Given the description of an element on the screen output the (x, y) to click on. 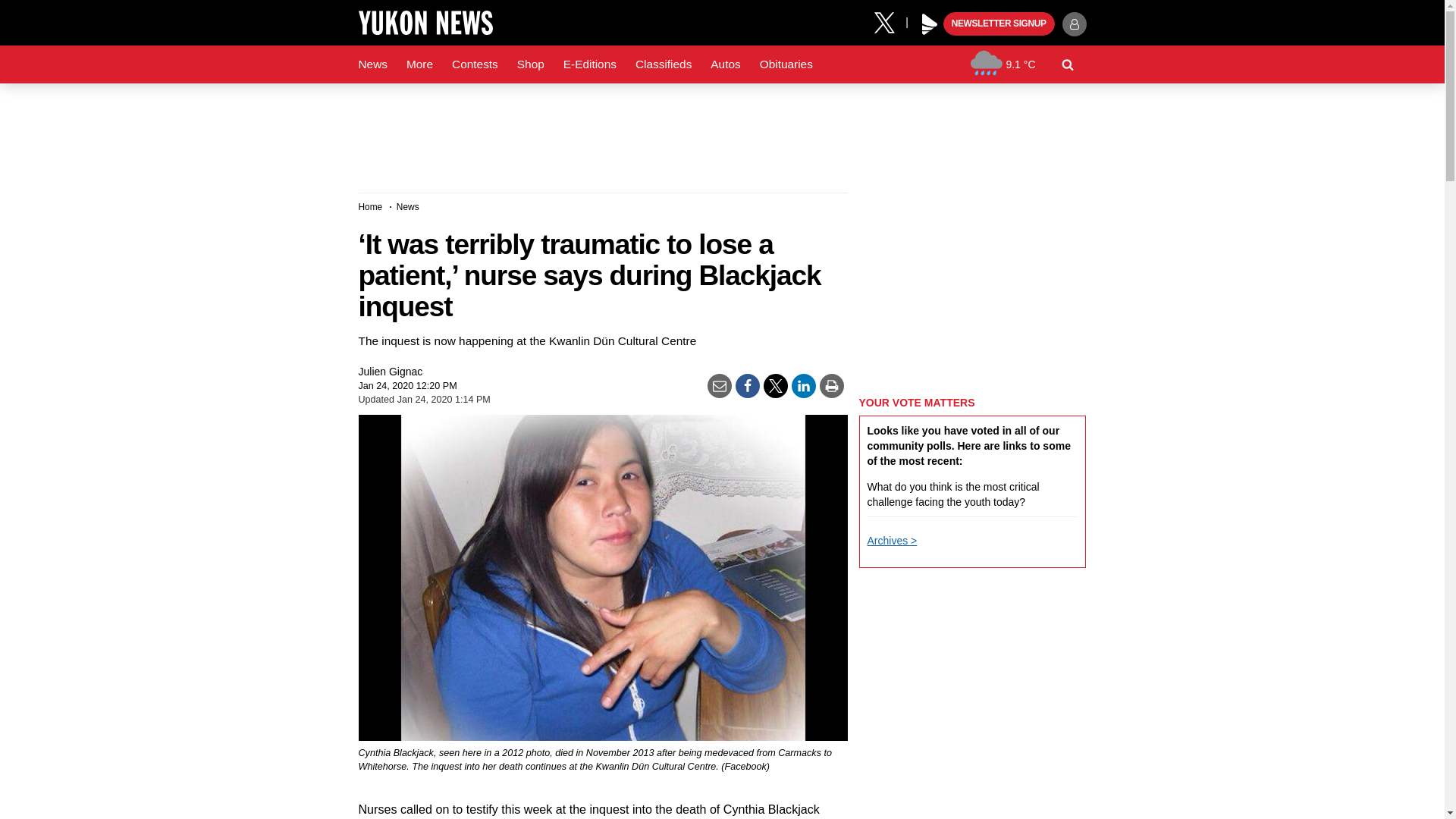
X (889, 21)
News (372, 64)
NEWSLETTER SIGNUP (998, 24)
Black Press Media (929, 24)
Play (929, 24)
